Given the description of an element on the screen output the (x, y) to click on. 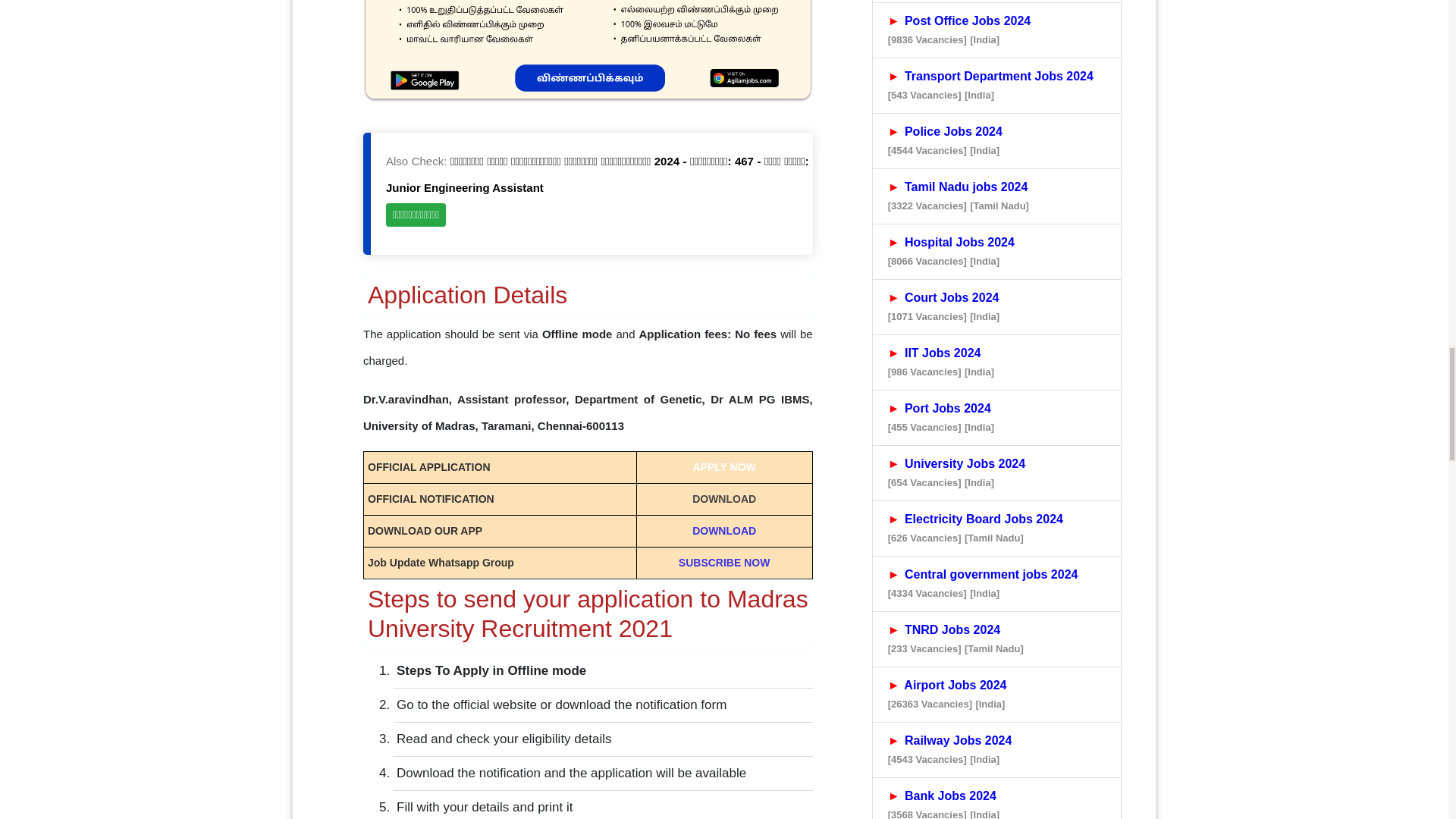
SUBSCRIBE NOW (724, 562)
DOWNLOAD (724, 530)
